Given the description of an element on the screen output the (x, y) to click on. 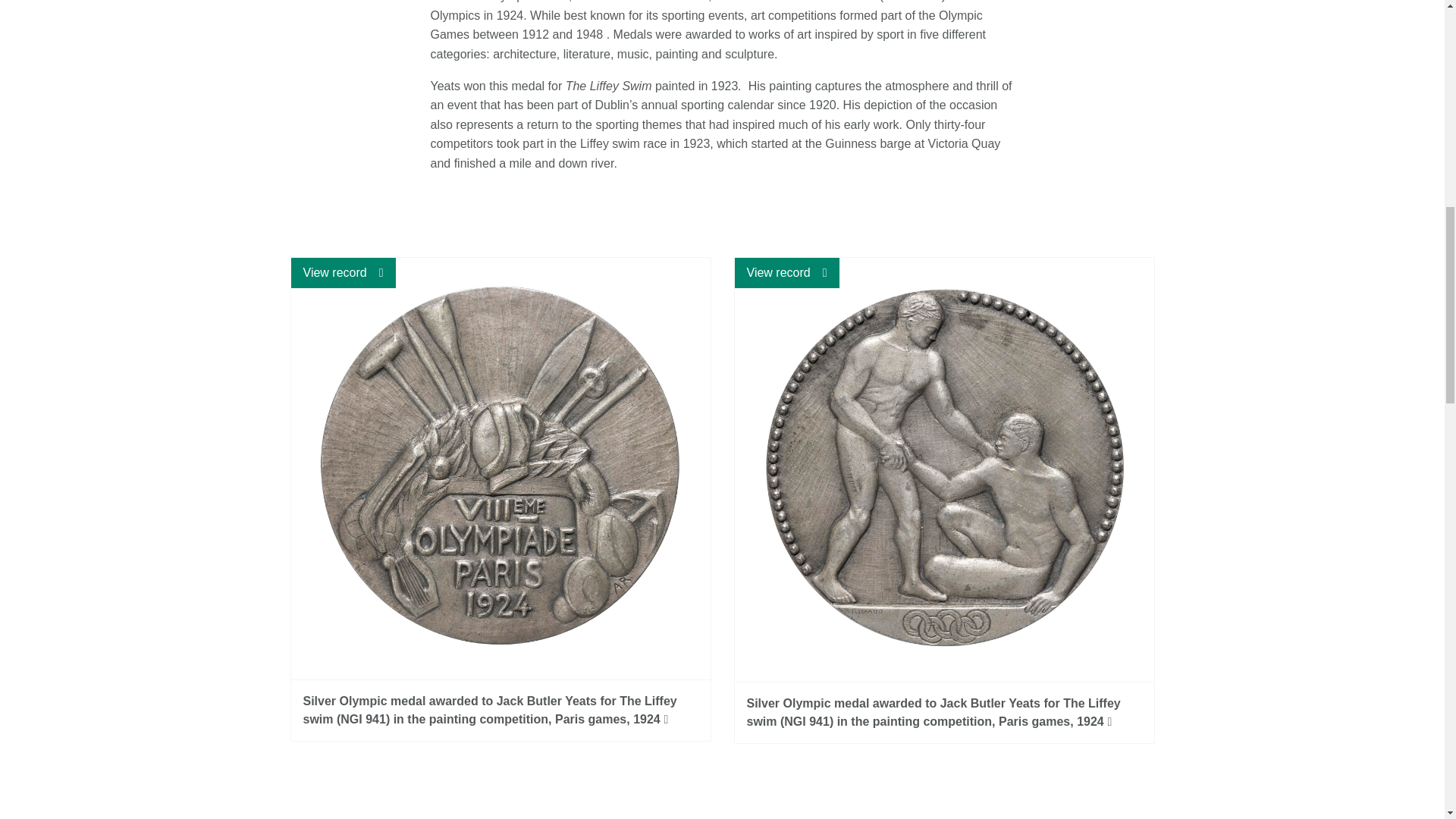
View record (785, 272)
View record (343, 272)
The Liffey Swim (609, 85)
